Given the description of an element on the screen output the (x, y) to click on. 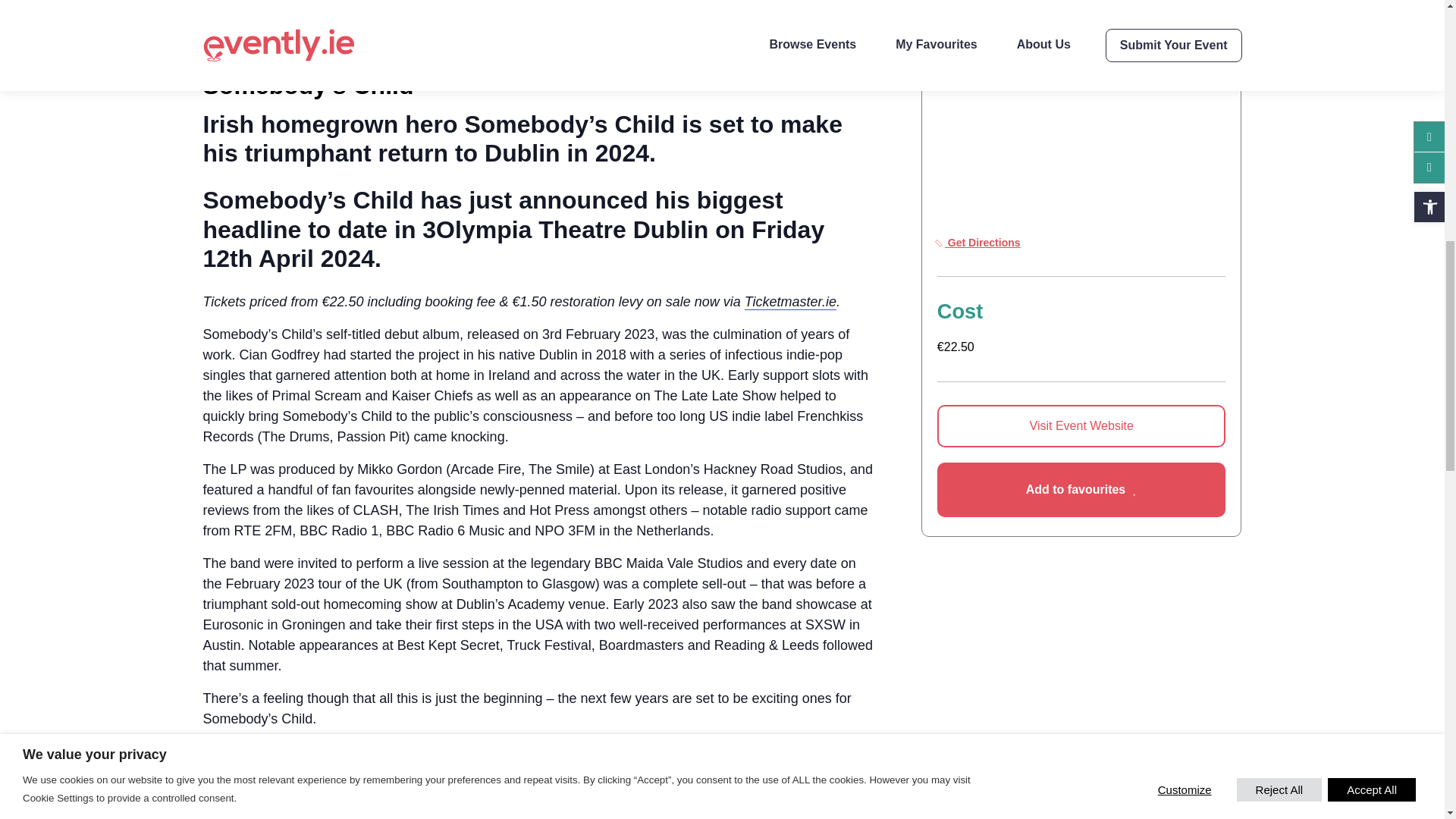
Ticketmaster.ie (789, 302)
